Given the description of an element on the screen output the (x, y) to click on. 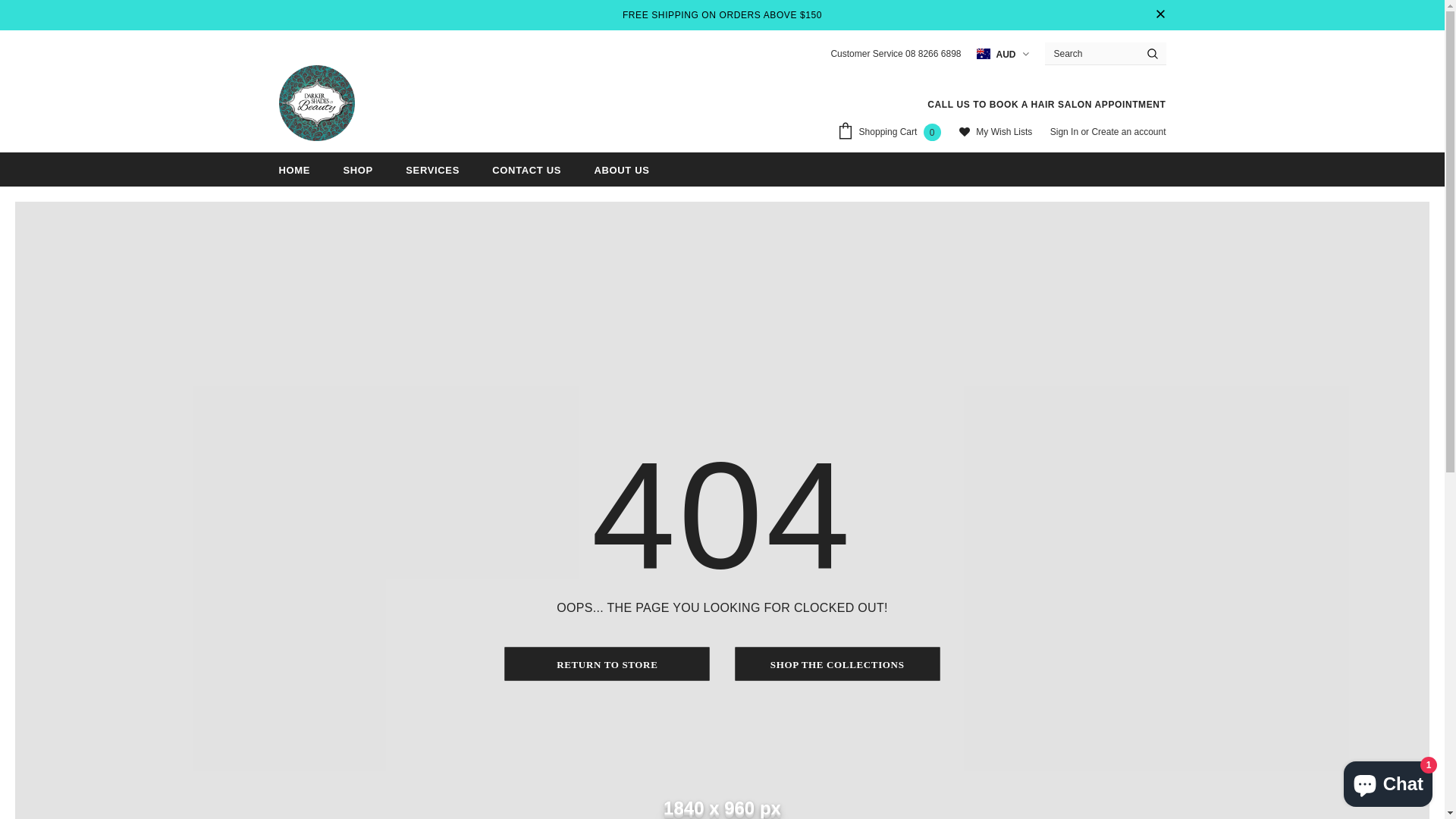
ABOUT US Element type: text (621, 169)
Create an account Element type: text (1128, 131)
SHOP THE COLLECTIONS Element type: text (836, 663)
SERVICES Element type: text (432, 169)
close Element type: hover (1159, 14)
SHOP Element type: text (357, 169)
Shopping Cart 0 Element type: text (892, 133)
RETURN TO STORE Element type: text (607, 663)
My Wish Lists Element type: text (995, 132)
Shopify online store chat Element type: hover (1388, 780)
Logo Element type: hover (316, 103)
CONTACT US Element type: text (526, 169)
Sign In Element type: text (1065, 131)
HOME Element type: text (294, 169)
